Given the description of an element on the screen output the (x, y) to click on. 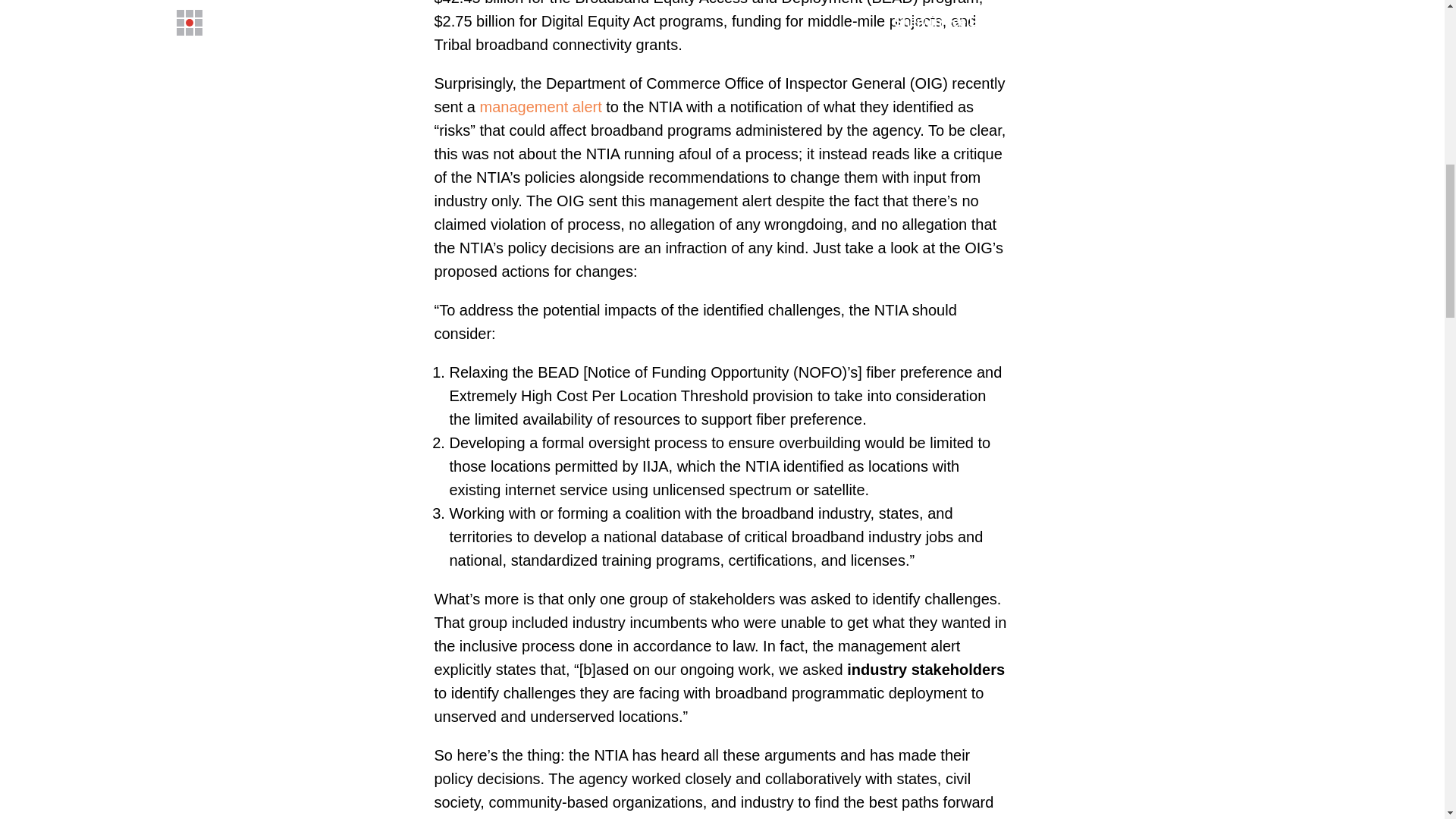
management alert (541, 106)
